Given the description of an element on the screen output the (x, y) to click on. 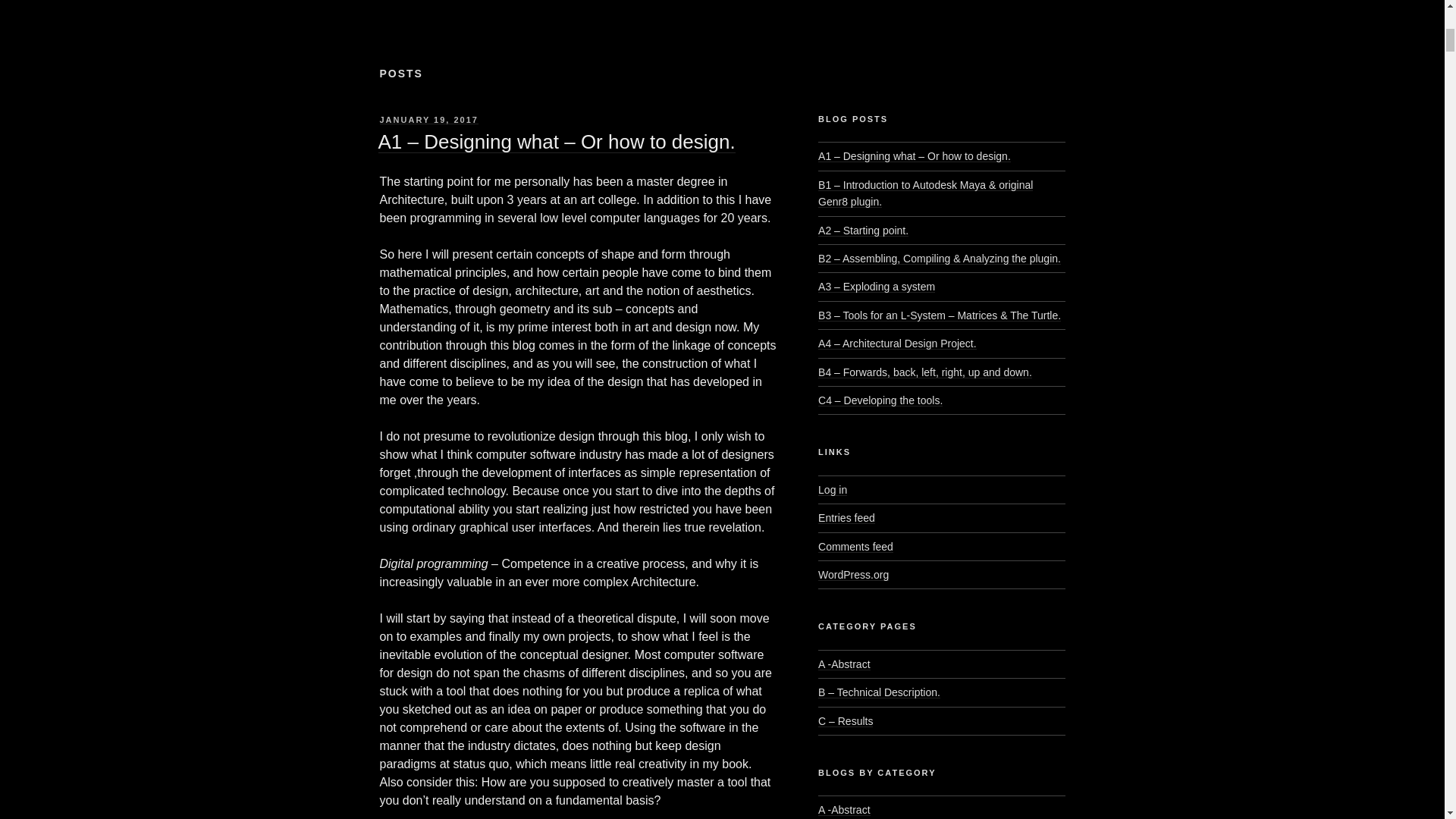
JANUARY 19, 2017 (427, 119)
